Given the description of an element on the screen output the (x, y) to click on. 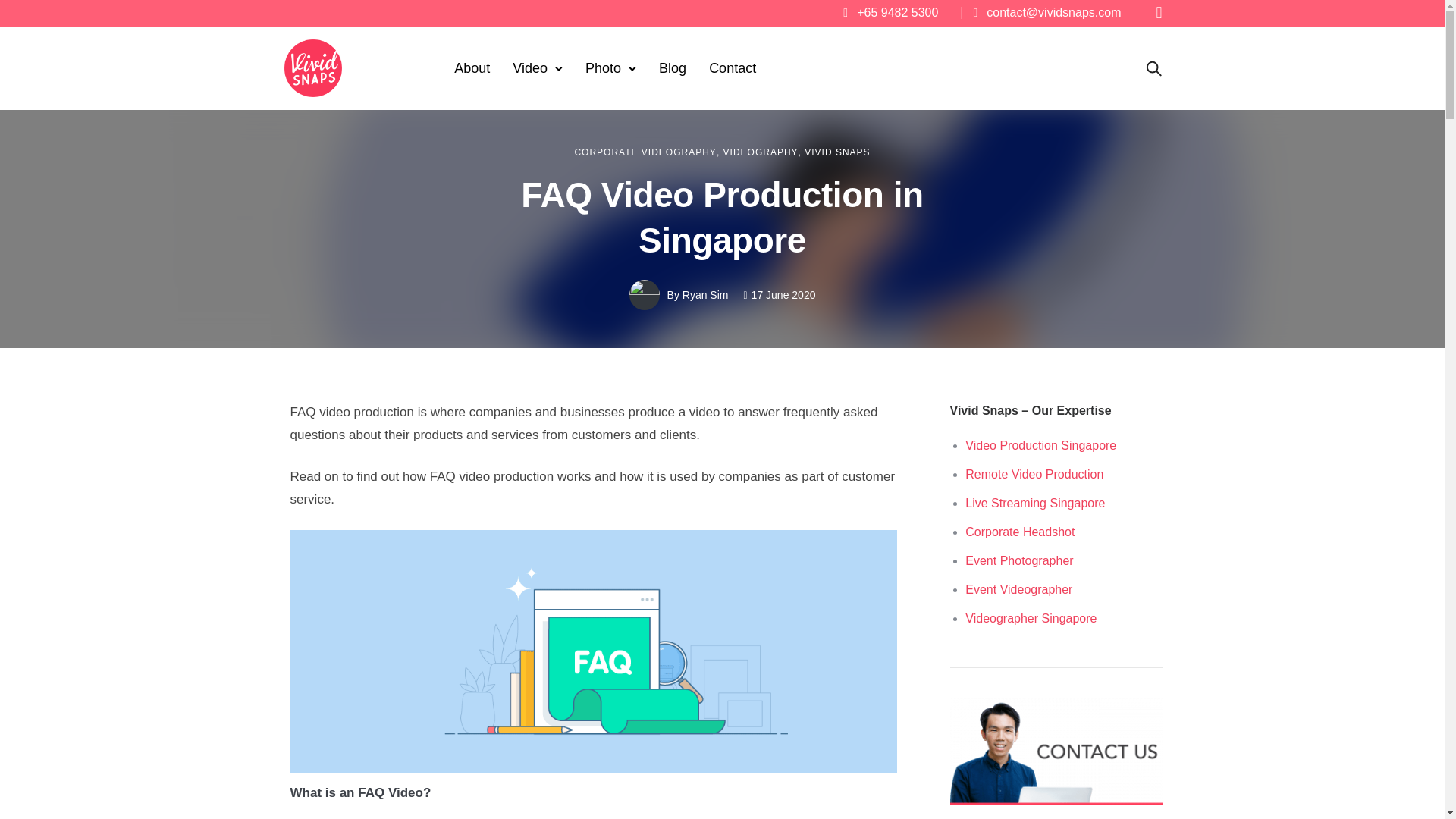
Photo (603, 68)
Video (529, 68)
VIVID SNAPS (837, 152)
Blog (672, 68)
About (471, 68)
Contact (731, 68)
CORPORATE VIDEOGRAPHY (644, 152)
Blog (672, 68)
Video (529, 68)
Contact (731, 68)
